Given the description of an element on the screen output the (x, y) to click on. 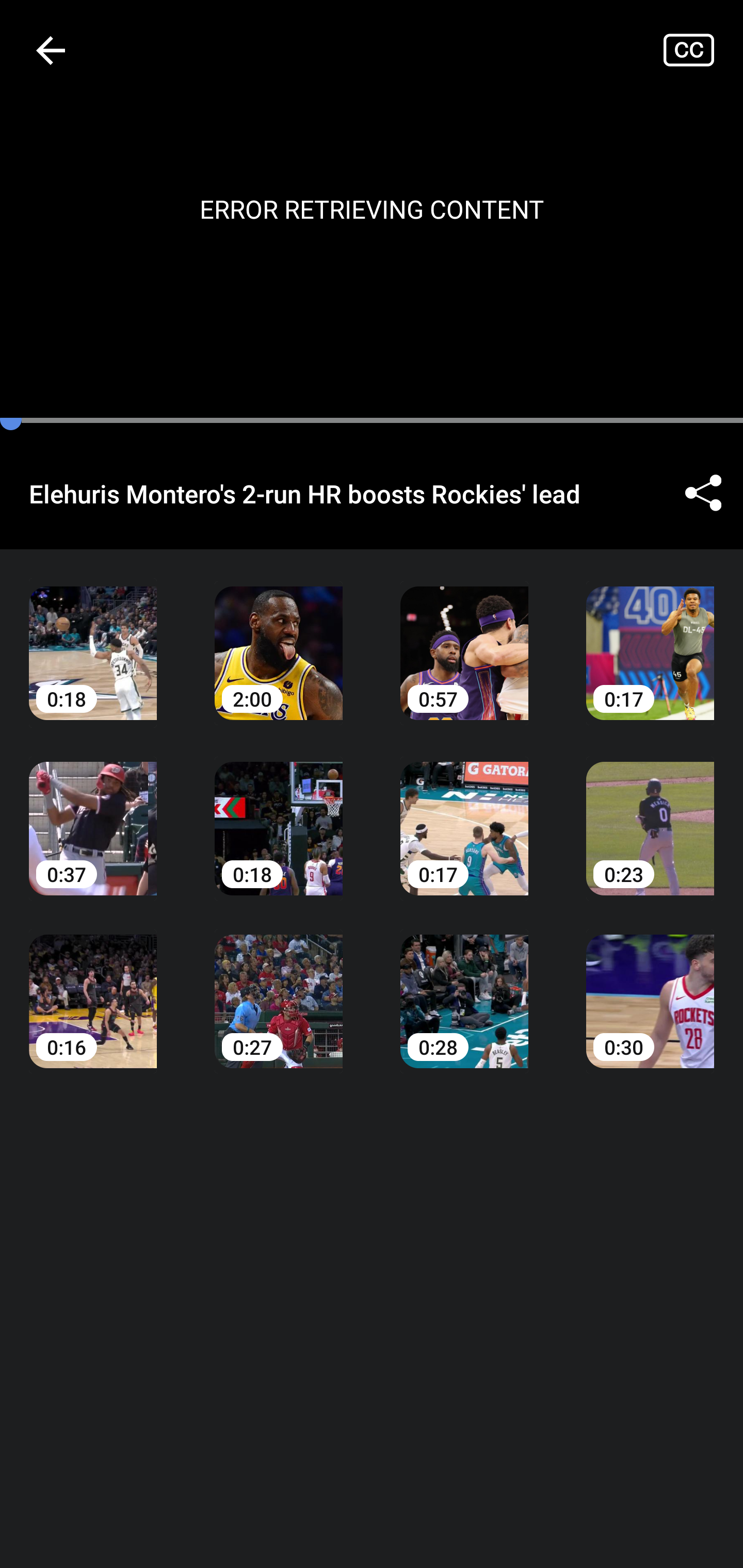
Navigate up (50, 50)
Closed captions  (703, 49)
Share © (703, 493)
0:18 (92, 637)
2:00 (278, 637)
0:57 (464, 637)
0:17 (650, 637)
0:37 (92, 813)
0:18 (278, 813)
0:17 (464, 813)
0:23 (650, 813)
0:16 (92, 987)
0:27 (278, 987)
0:28 (464, 987)
0:30 (650, 987)
